Given the description of an element on the screen output the (x, y) to click on. 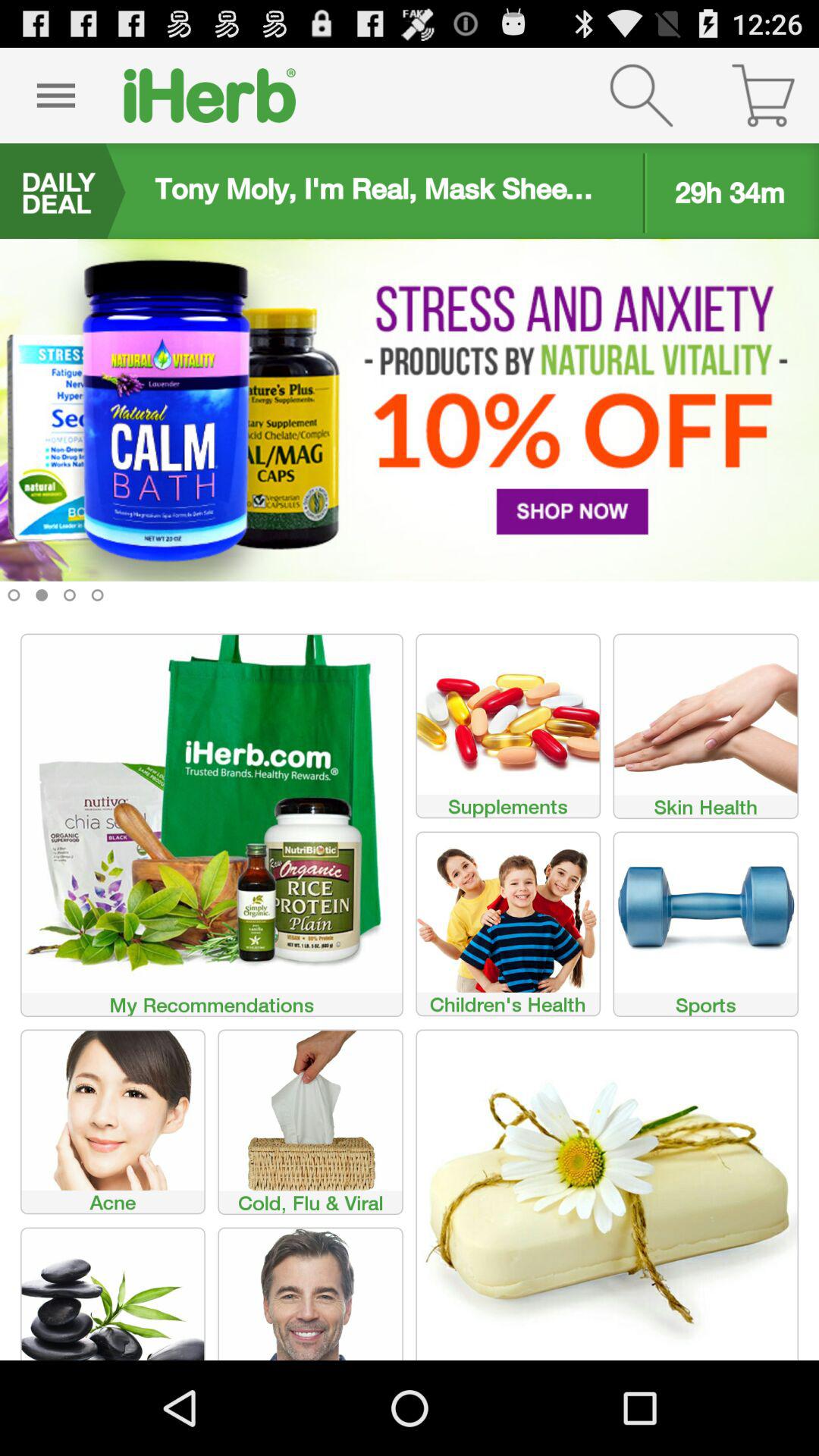
toggle menu option (55, 95)
